Given the description of an element on the screen output the (x, y) to click on. 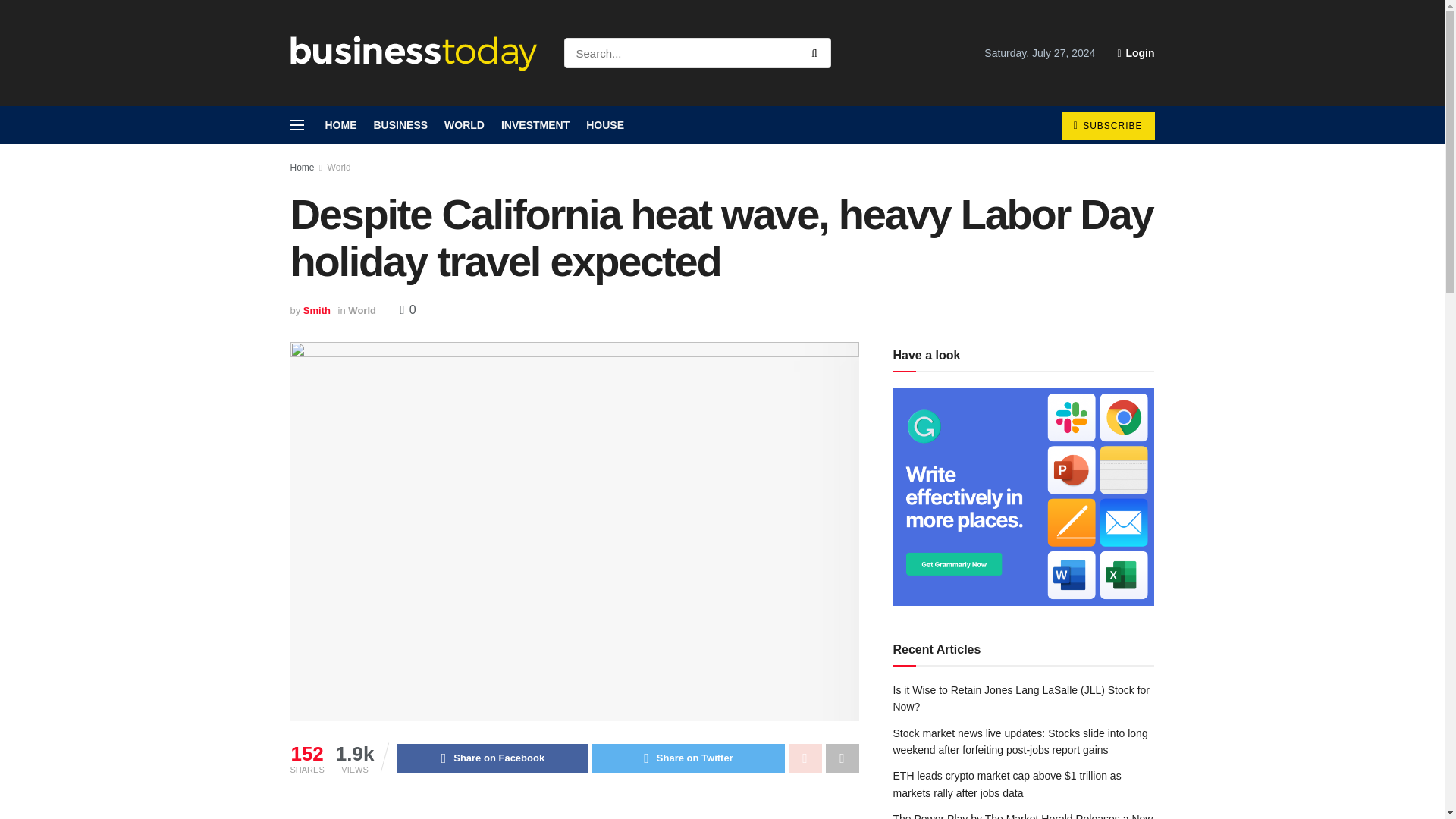
Share on Twitter (688, 758)
World (361, 310)
Smith (316, 310)
HOUSE (605, 125)
0 (408, 309)
WORLD (464, 125)
Home (301, 167)
INVESTMENT (534, 125)
BUSINESS (400, 125)
SUBSCRIBE (1107, 125)
World (338, 167)
Share on Facebook (492, 758)
Login (1135, 53)
